Given the description of an element on the screen output the (x, y) to click on. 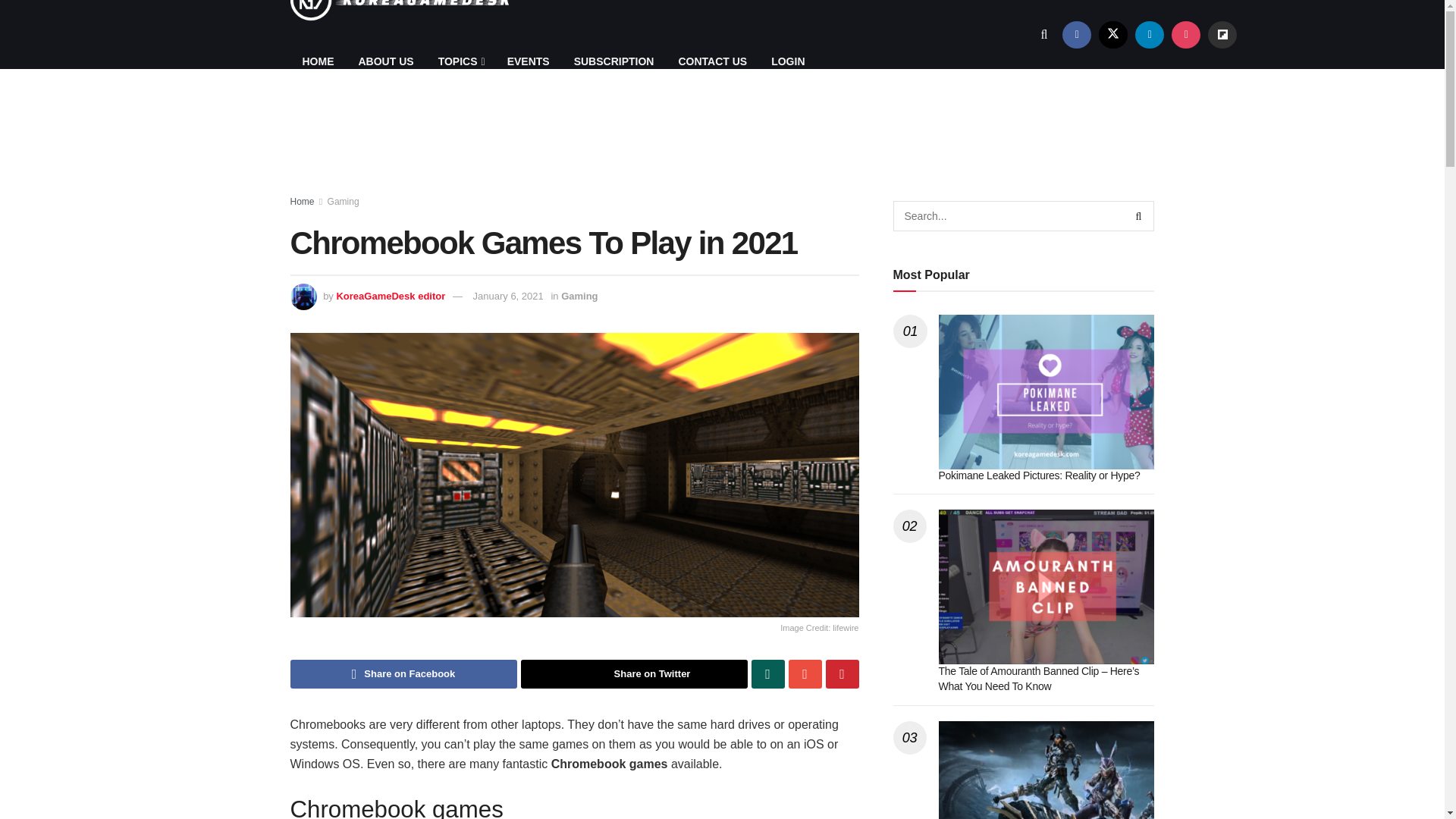
SUBSCRIPTION (614, 61)
ABOUT US (385, 61)
TOPICS (460, 61)
CONTACT US (711, 61)
EVENTS (528, 61)
